Given the description of an element on the screen output the (x, y) to click on. 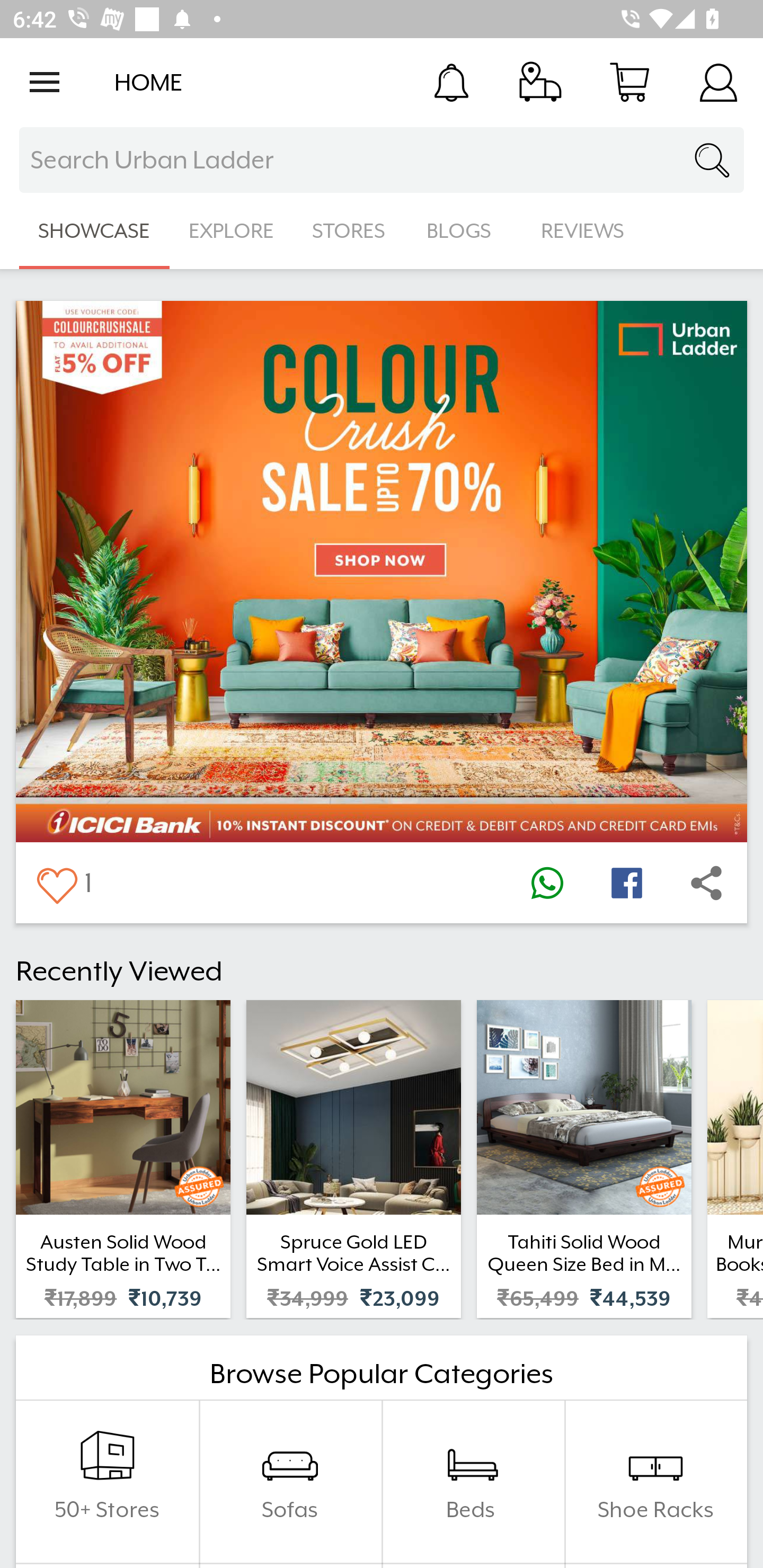
Open navigation drawer (44, 82)
Notification (450, 81)
Track Order (540, 81)
Cart (629, 81)
Account Details (718, 81)
Search Urban Ladder  (381, 159)
SHOWCASE (94, 230)
EXPLORE (230, 230)
STORES (349, 230)
BLOGS (464, 230)
REVIEWS (582, 230)
 (55, 882)
 (547, 882)
 (626, 882)
 (706, 882)
50+ Stores (106, 1481)
Sofas (289, 1481)
Beds  (473, 1481)
Shoe Racks (655, 1481)
